Given the description of an element on the screen output the (x, y) to click on. 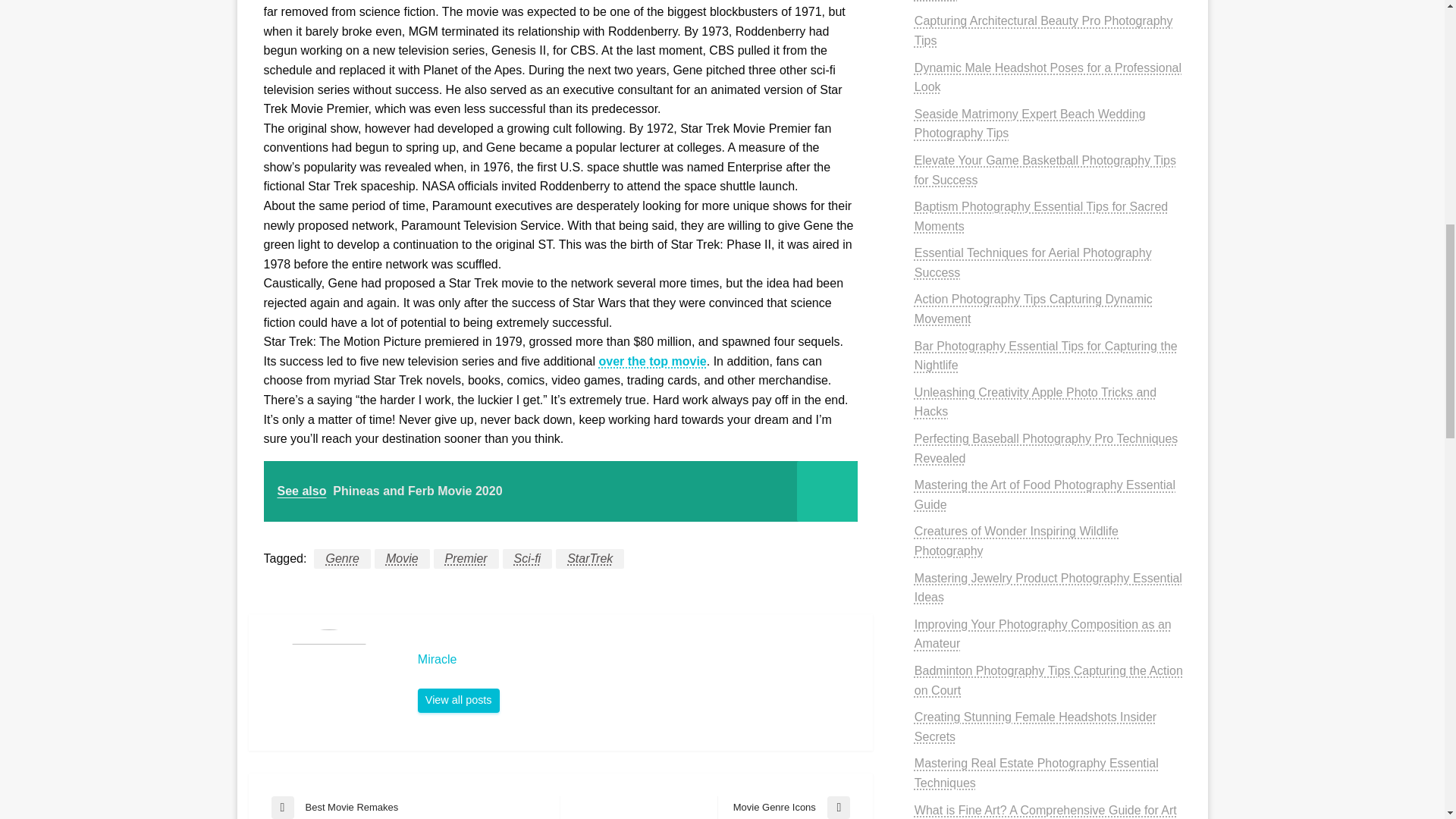
Miracle (458, 700)
Miracle (637, 659)
StarTrek (590, 558)
See also  Phineas and Ferb Movie 2020 (560, 491)
View all posts (458, 700)
Premier (466, 558)
Genre (783, 807)
Movie (341, 558)
over the top movie (401, 558)
